Given the description of an element on the screen output the (x, y) to click on. 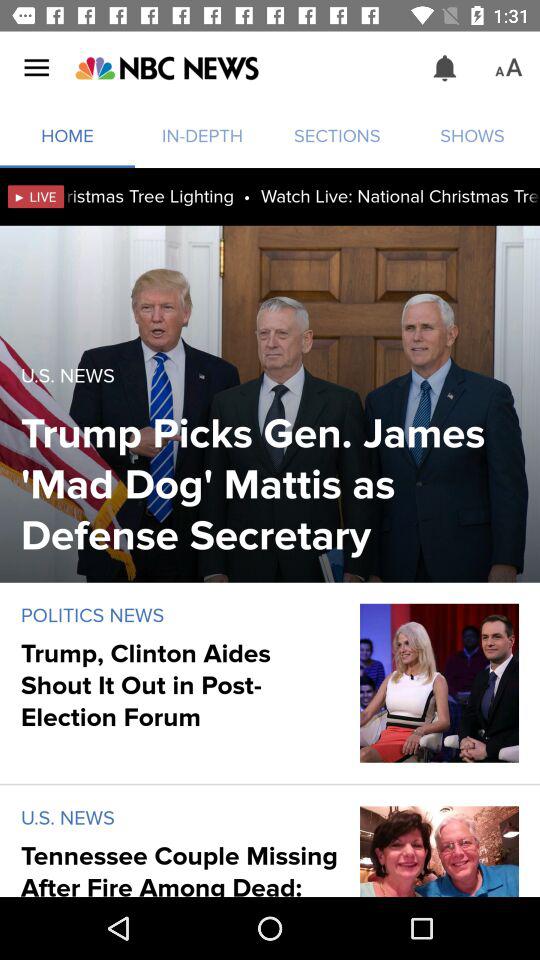
tap the icon above the shows icon (508, 67)
